Given the description of an element on the screen output the (x, y) to click on. 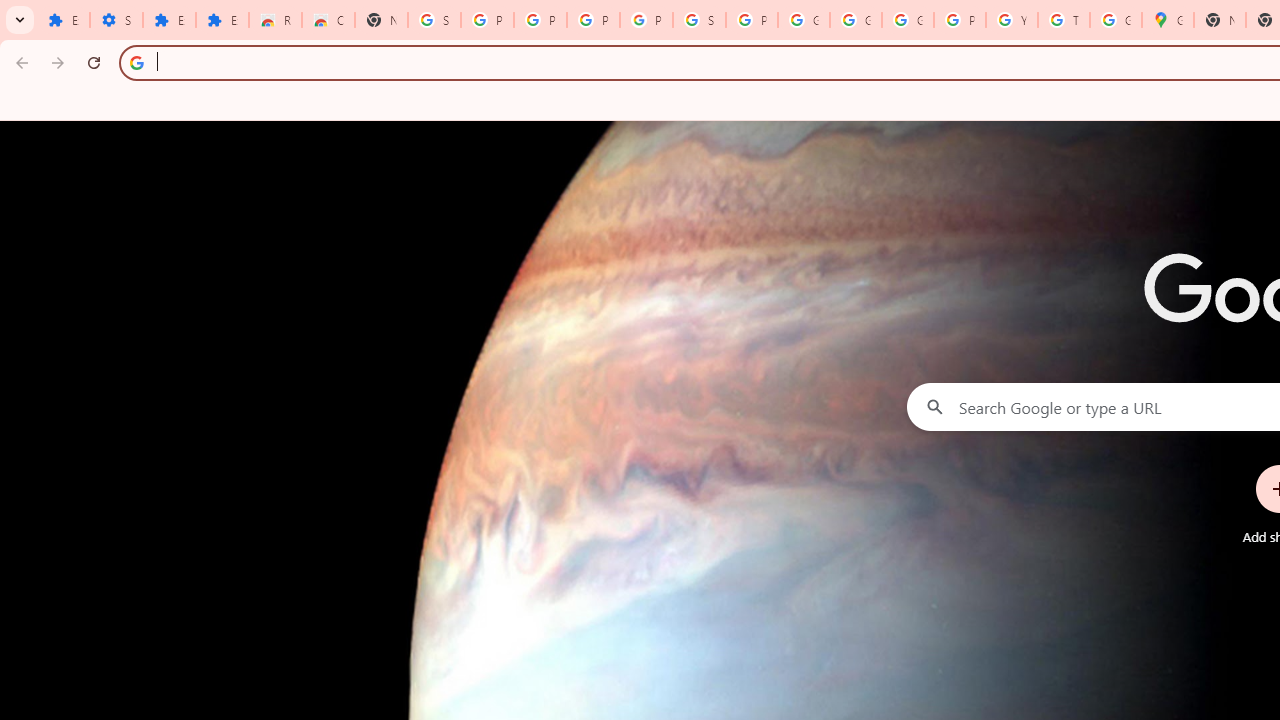
Sign in - Google Accounts (699, 20)
Reviews: Helix Fruit Jump Arcade Game (275, 20)
Extensions (169, 20)
Extensions (63, 20)
Google Account (855, 20)
Chrome Web Store - Themes (328, 20)
